Given the description of an element on the screen output the (x, y) to click on. 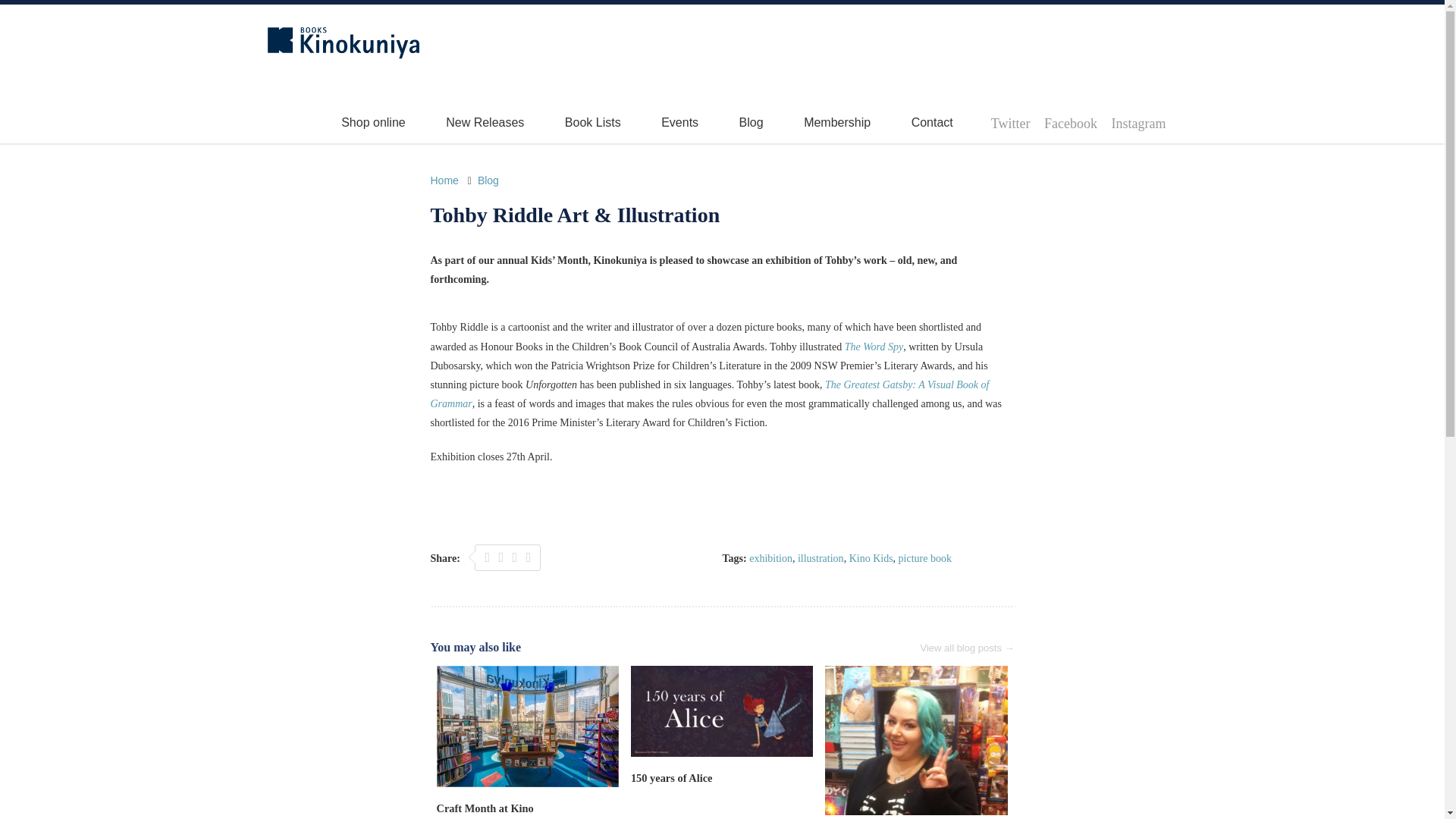
Kino Kids (870, 558)
The Greatest Gatsby: A Visual Book of Grammar (710, 394)
Instagram (1139, 123)
Kinokuniya (342, 42)
Blog (488, 180)
150 years of Alice (671, 777)
Home (444, 180)
Events (679, 122)
New Releases (484, 122)
illustration (820, 558)
